Given the description of an element on the screen output the (x, y) to click on. 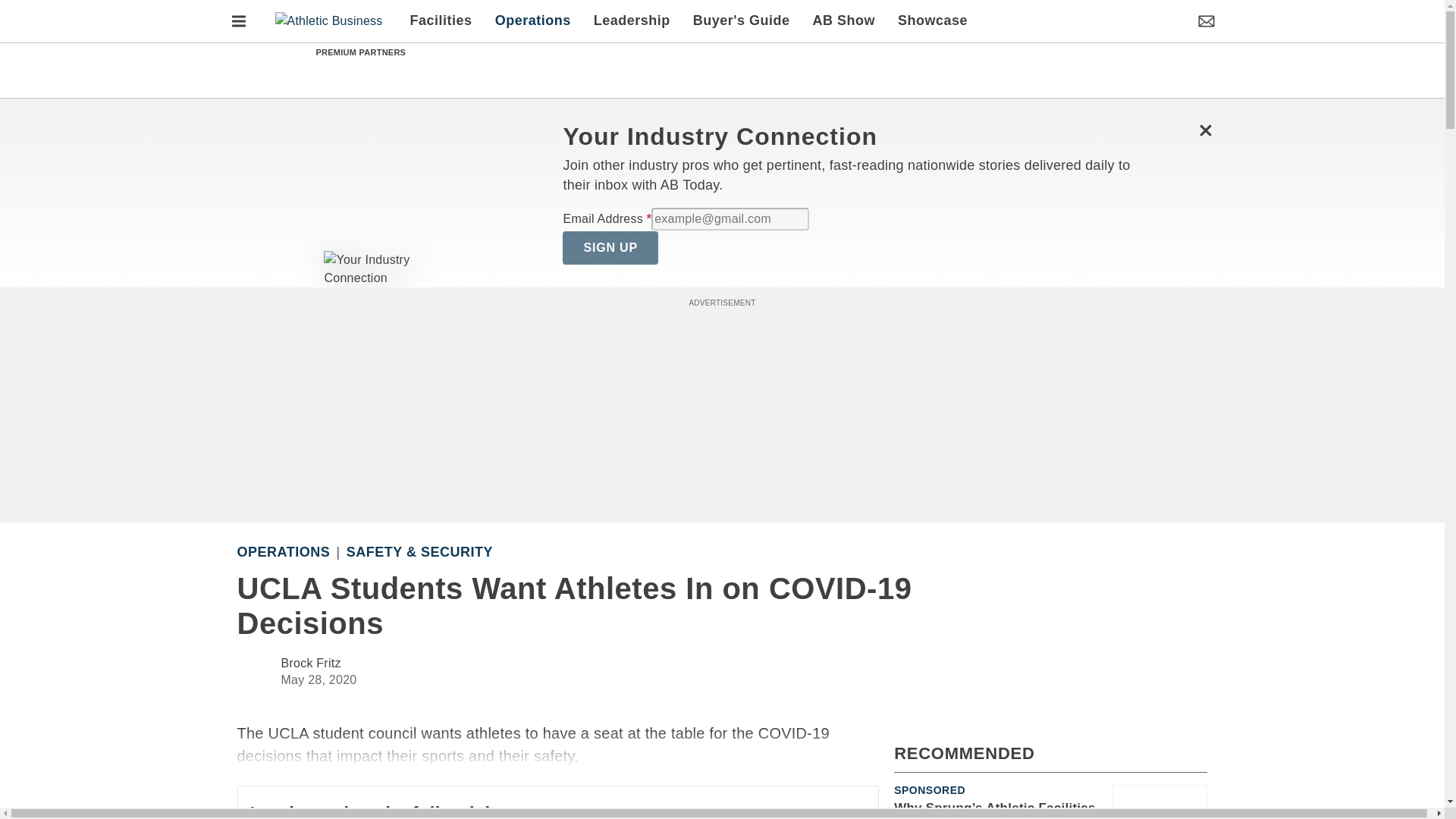
Facilities (446, 21)
Buyer's Guide (741, 21)
Leadership (631, 21)
SIGN UP (610, 247)
AB Show (844, 21)
Showcase (927, 21)
Operations (282, 551)
Operations (532, 21)
